Given the description of an element on the screen output the (x, y) to click on. 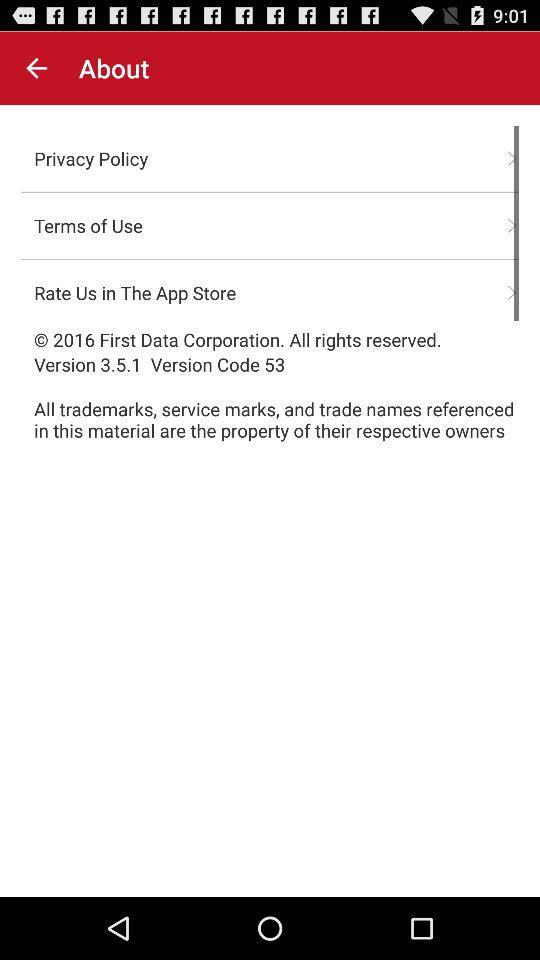
press app next to the about app (36, 68)
